Given the description of an element on the screen output the (x, y) to click on. 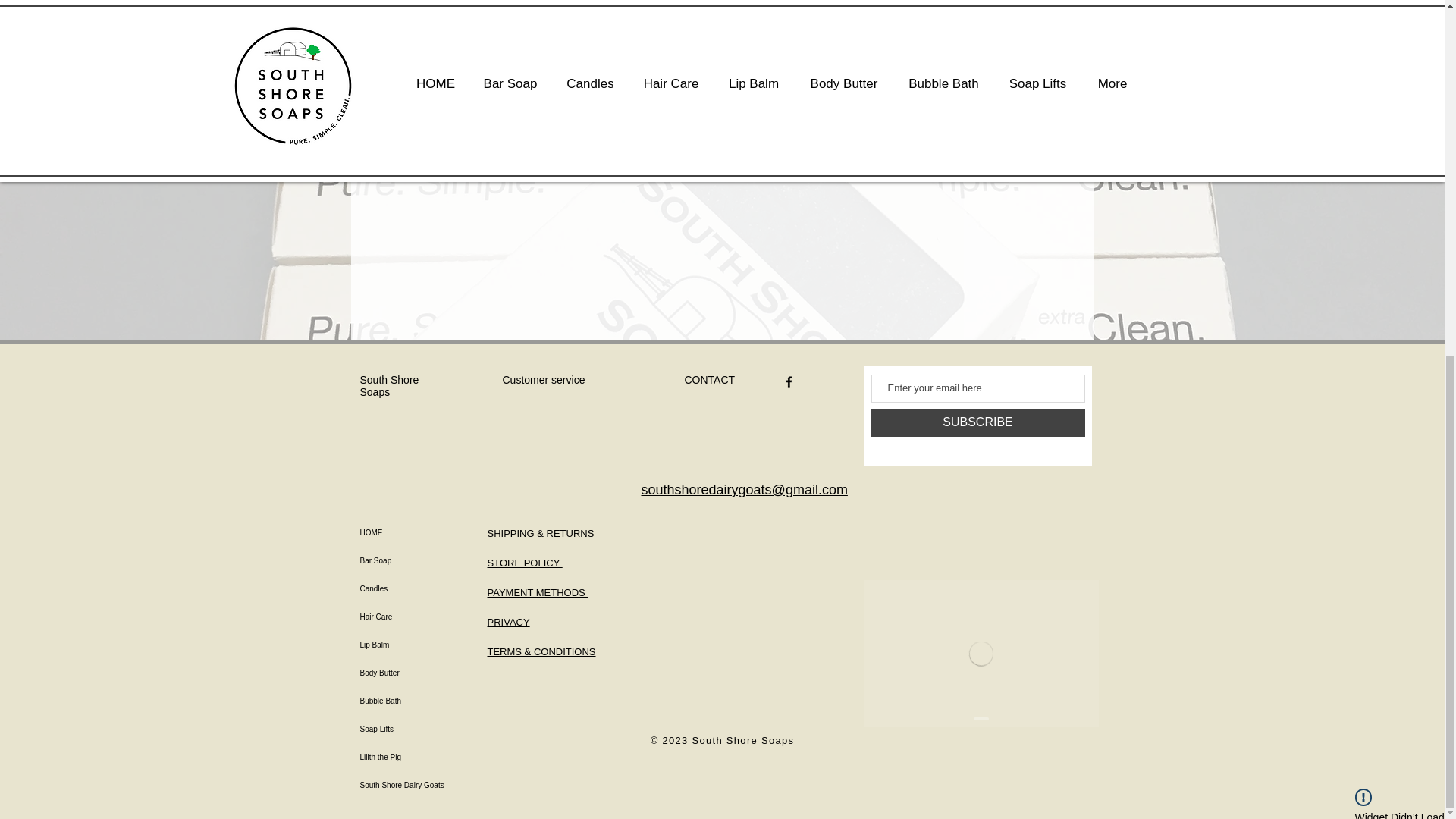
Lilith the Pig (414, 756)
Soap Lifts (414, 728)
Lip Balm (414, 644)
Events Calendar (980, 653)
Body Butter (414, 673)
Bar Soap (414, 560)
Candles (414, 588)
Hair Care (414, 616)
allergy patch test (660, 82)
PRIVACY (507, 622)
STORE POLICY  (524, 562)
Bubble Bath (414, 700)
PAYMENT METHODS  (537, 592)
South Shore Dairy Goats (414, 785)
HOME (414, 532)
